Given the description of an element on the screen output the (x, y) to click on. 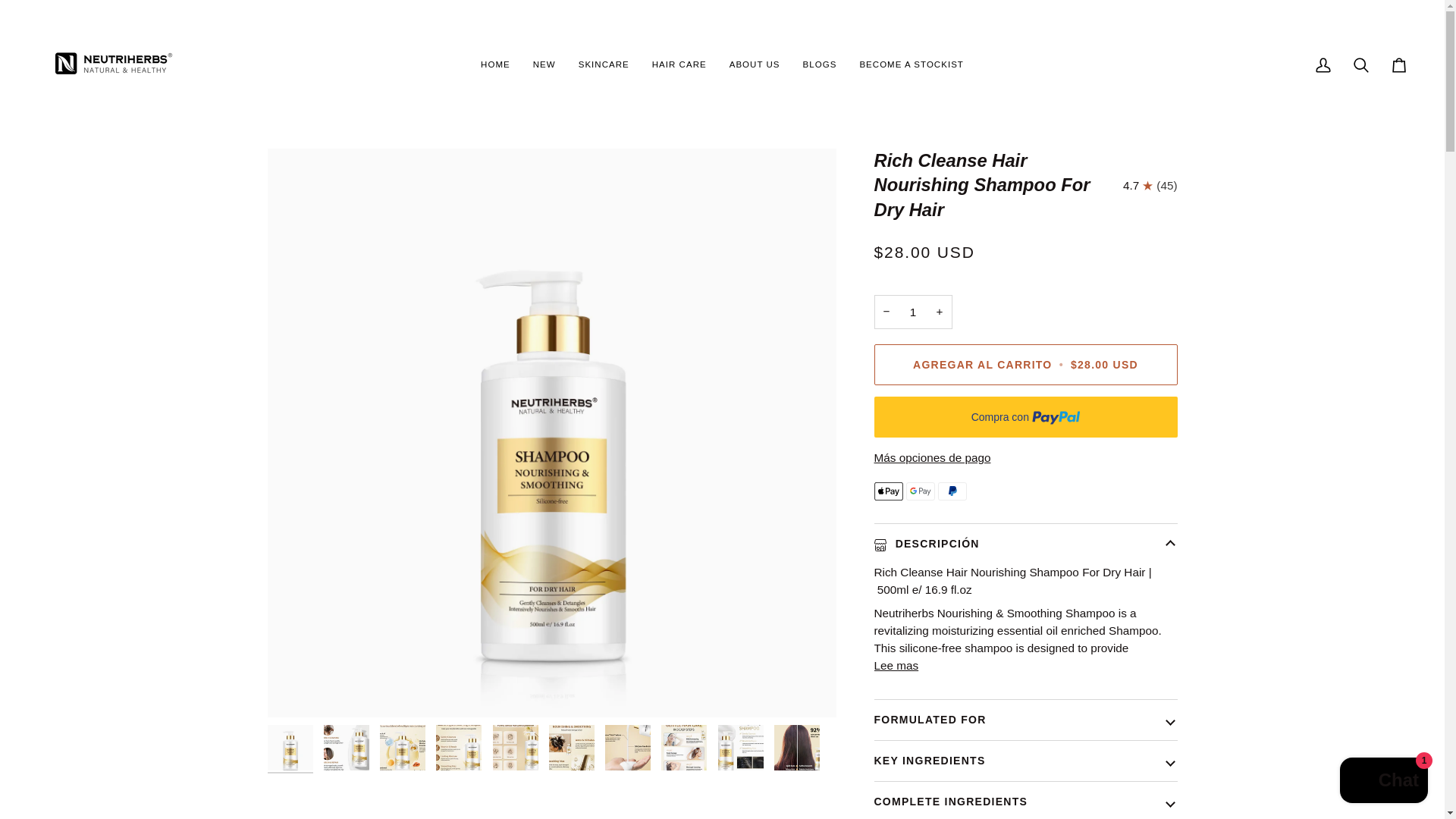
SKINCARE (603, 65)
HOME (494, 65)
1 (912, 312)
NEW (544, 65)
